Given the description of an element on the screen output the (x, y) to click on. 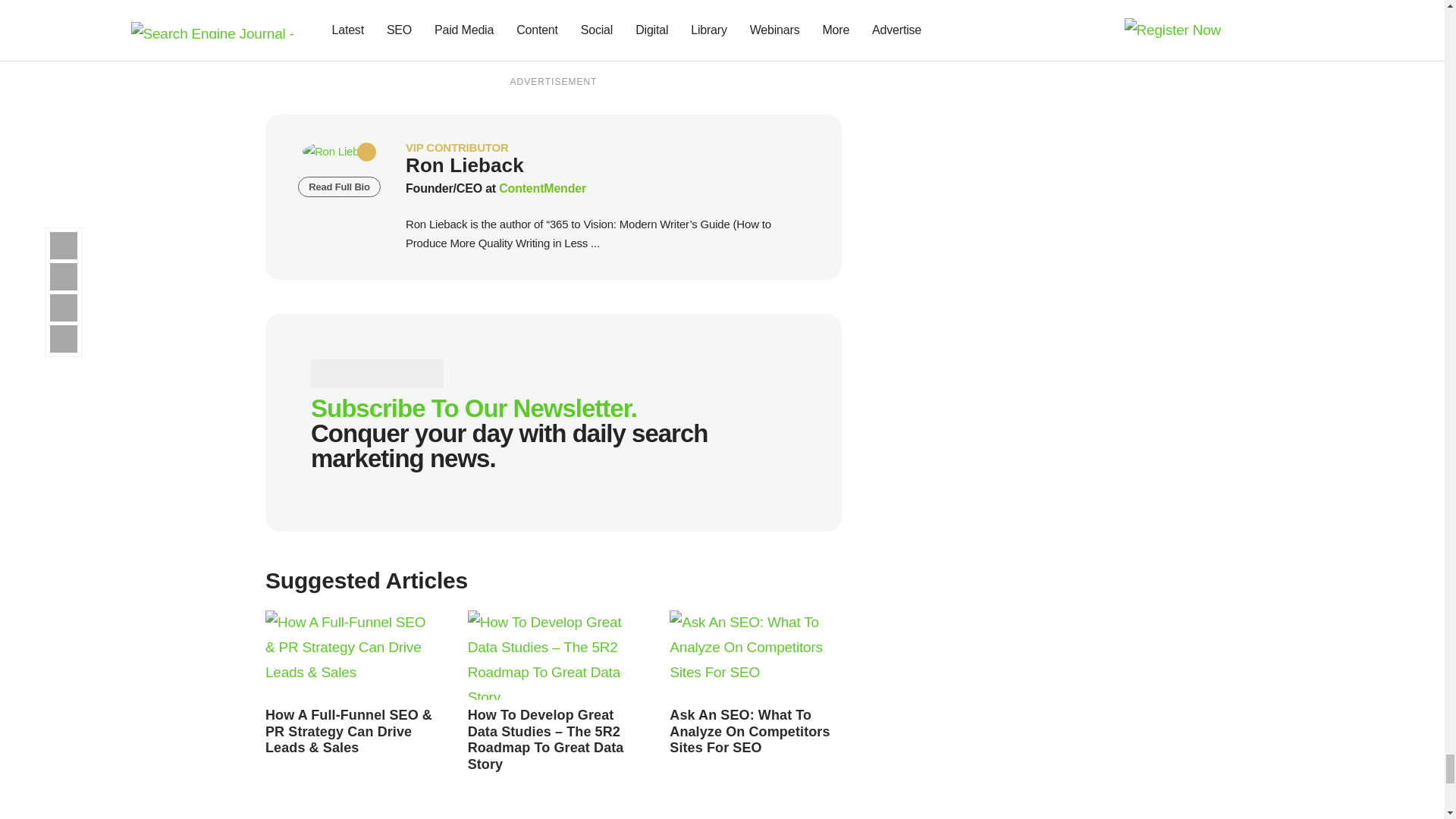
Read the Article (351, 655)
Read the Article (755, 655)
Read the Article (545, 739)
Read the Article (553, 655)
Read the Article (348, 731)
